Given the description of an element on the screen output the (x, y) to click on. 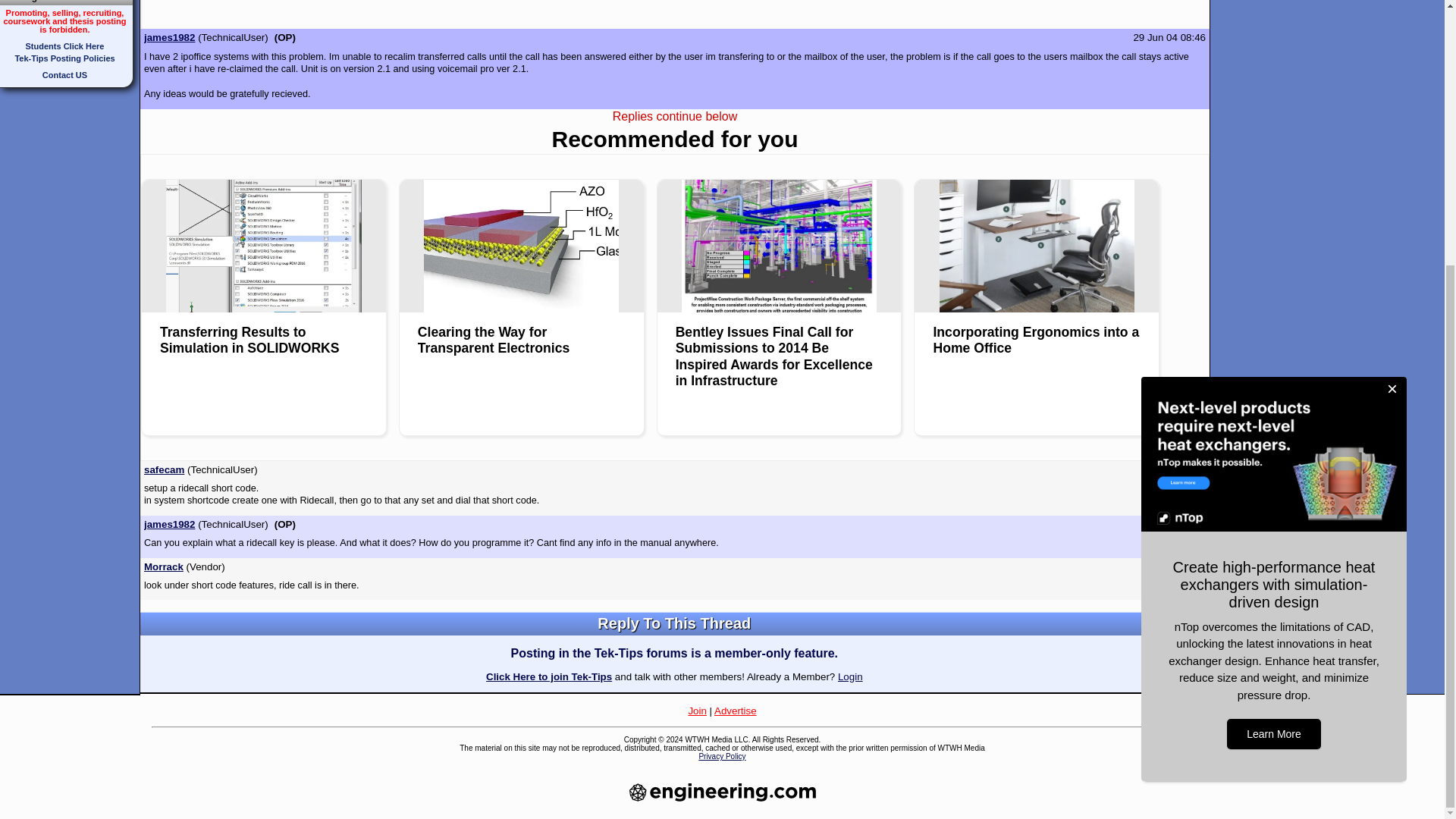
Students Click Here (65, 45)
Advertisement (674, 12)
Contact US (64, 74)
Tek-Tips Posting Policies (64, 58)
